Given the description of an element on the screen output the (x, y) to click on. 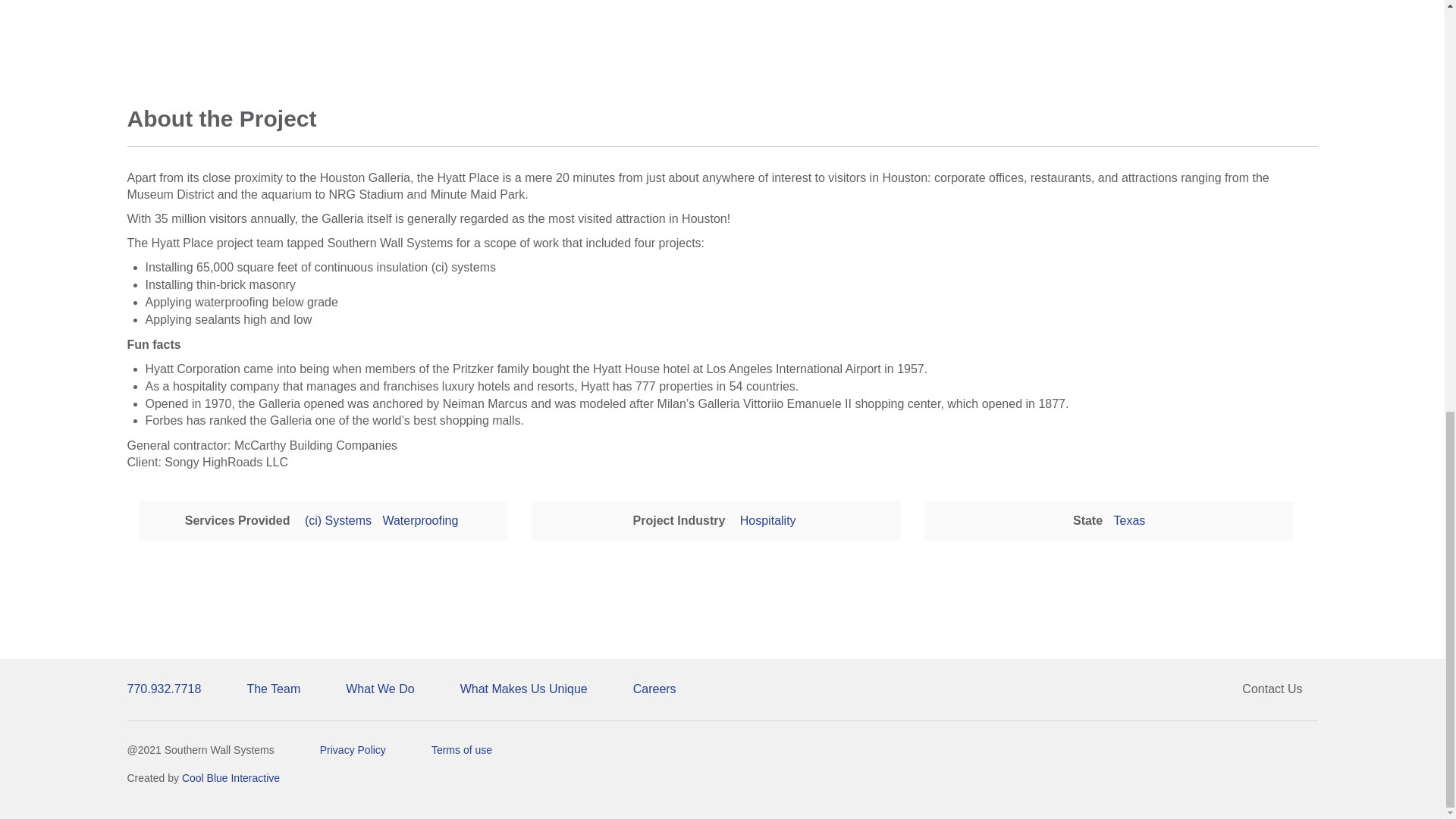
Careers (654, 689)
What We Do (379, 689)
Texas (1129, 520)
Terms of use (461, 750)
Hospitality (767, 520)
The Team (273, 689)
What Makes Us Unique (523, 689)
Cool Blue Interactive (230, 777)
Waterproofing (419, 520)
Privacy Policy (352, 750)
Contact Us (1272, 689)
770.932.7718 (172, 689)
